Given the description of an element on the screen output the (x, y) to click on. 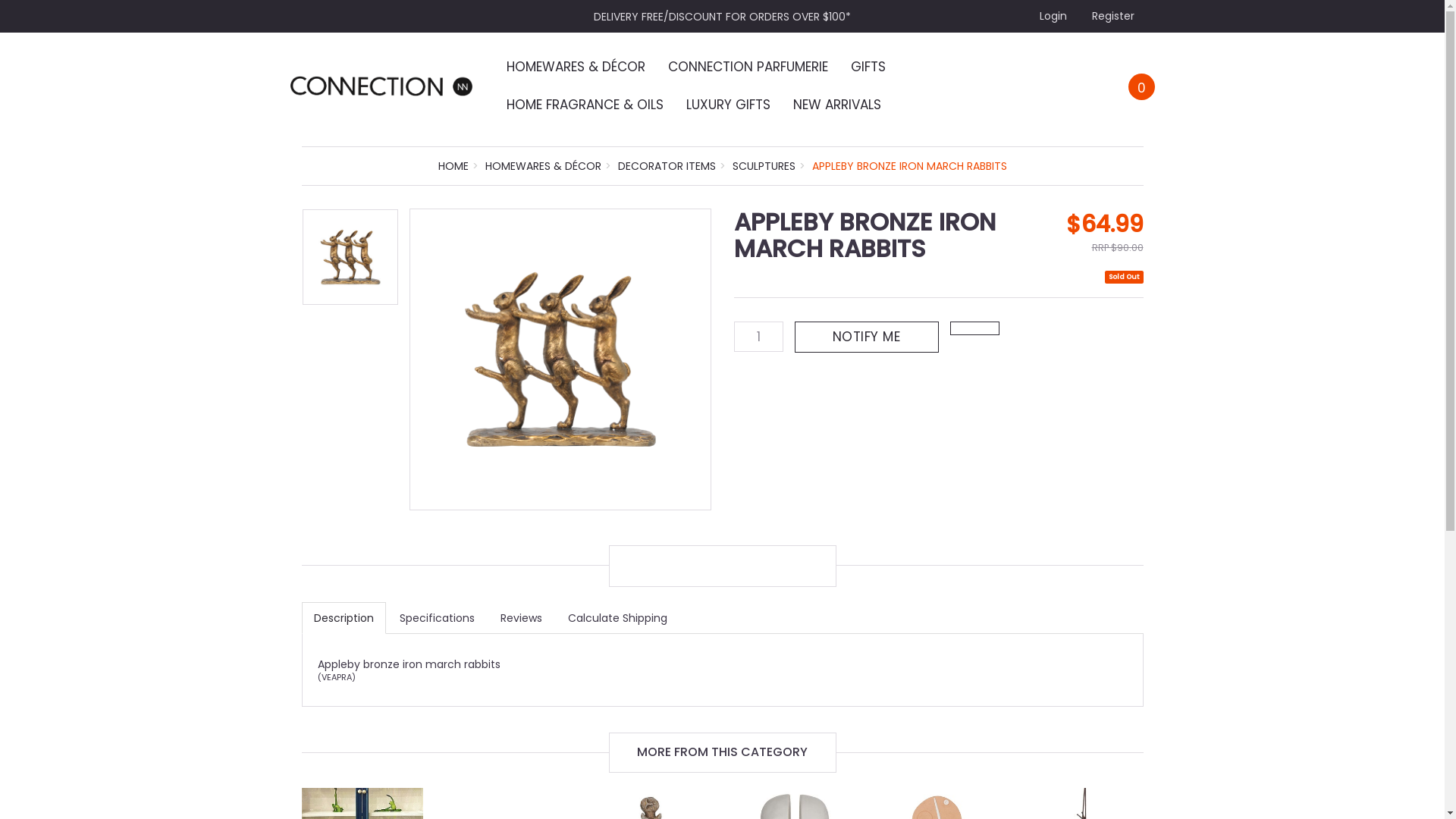
HOME Element type: text (453, 165)
Reviews Element type: text (521, 617)
0 Element type: text (1141, 86)
LUXURY GIFTS Element type: text (727, 104)
Connection Element type: hover (380, 84)
SCULPTURES Element type: text (763, 165)
Description Element type: text (343, 617)
Login Element type: text (1051, 15)
NOTIFY ME Element type: text (866, 336)
Specifications Element type: text (436, 617)
DECORATOR ITEMS Element type: text (666, 165)
APPLEBY BRONZE IRON MARCH RABBITS Element type: text (908, 165)
HOME FRAGRANCE & OILS Element type: text (584, 104)
Register Element type: text (1111, 15)
CONNECTION PARFUMERIE Element type: text (747, 66)
Calculate Shipping Element type: text (616, 617)
GIFTS Element type: text (868, 66)
NEW ARRIVALS Element type: text (836, 104)
Large View Element type: hover (560, 359)
